Given the description of an element on the screen output the (x, y) to click on. 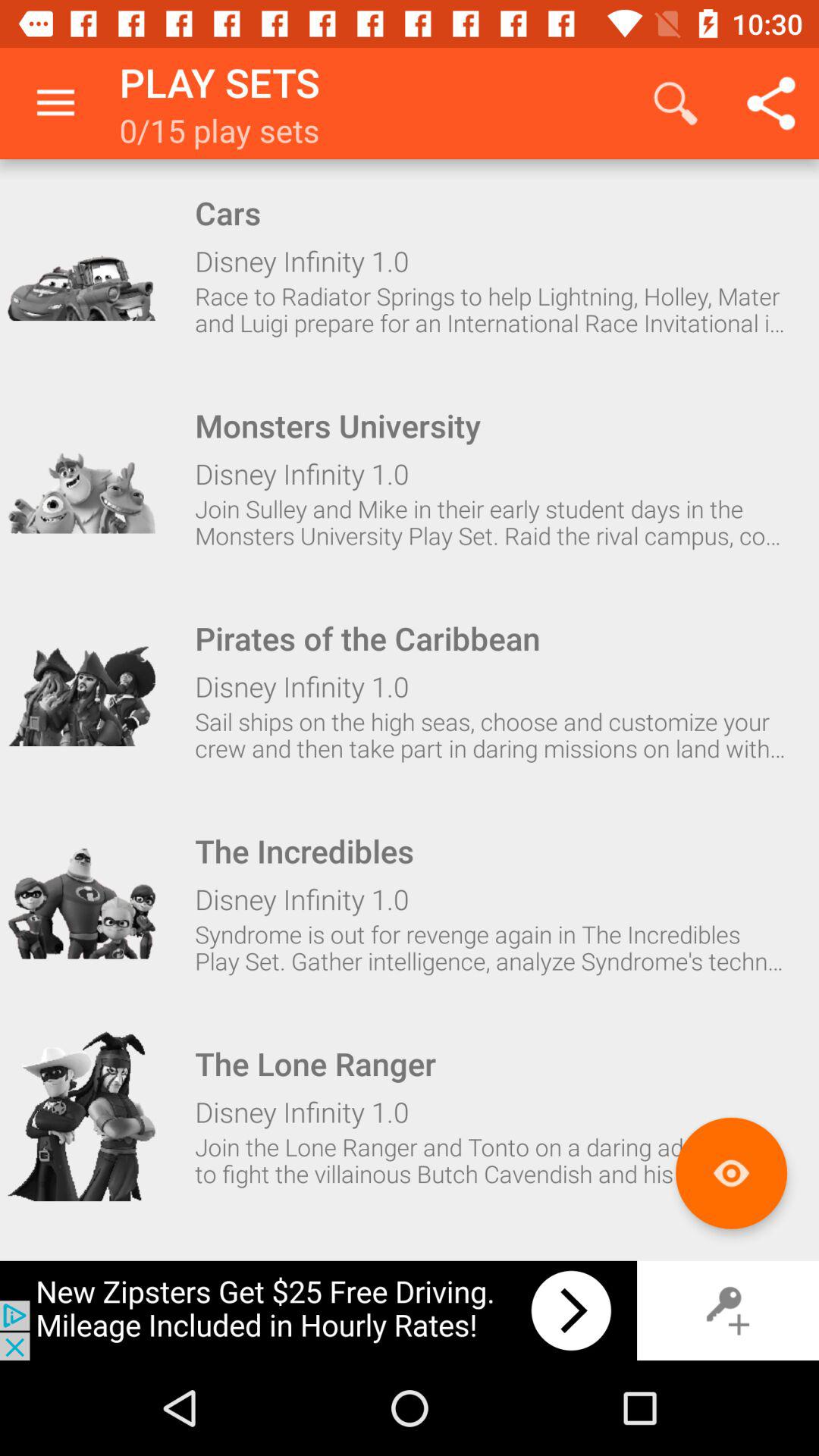
open mail (81, 1116)
